Given the description of an element on the screen output the (x, y) to click on. 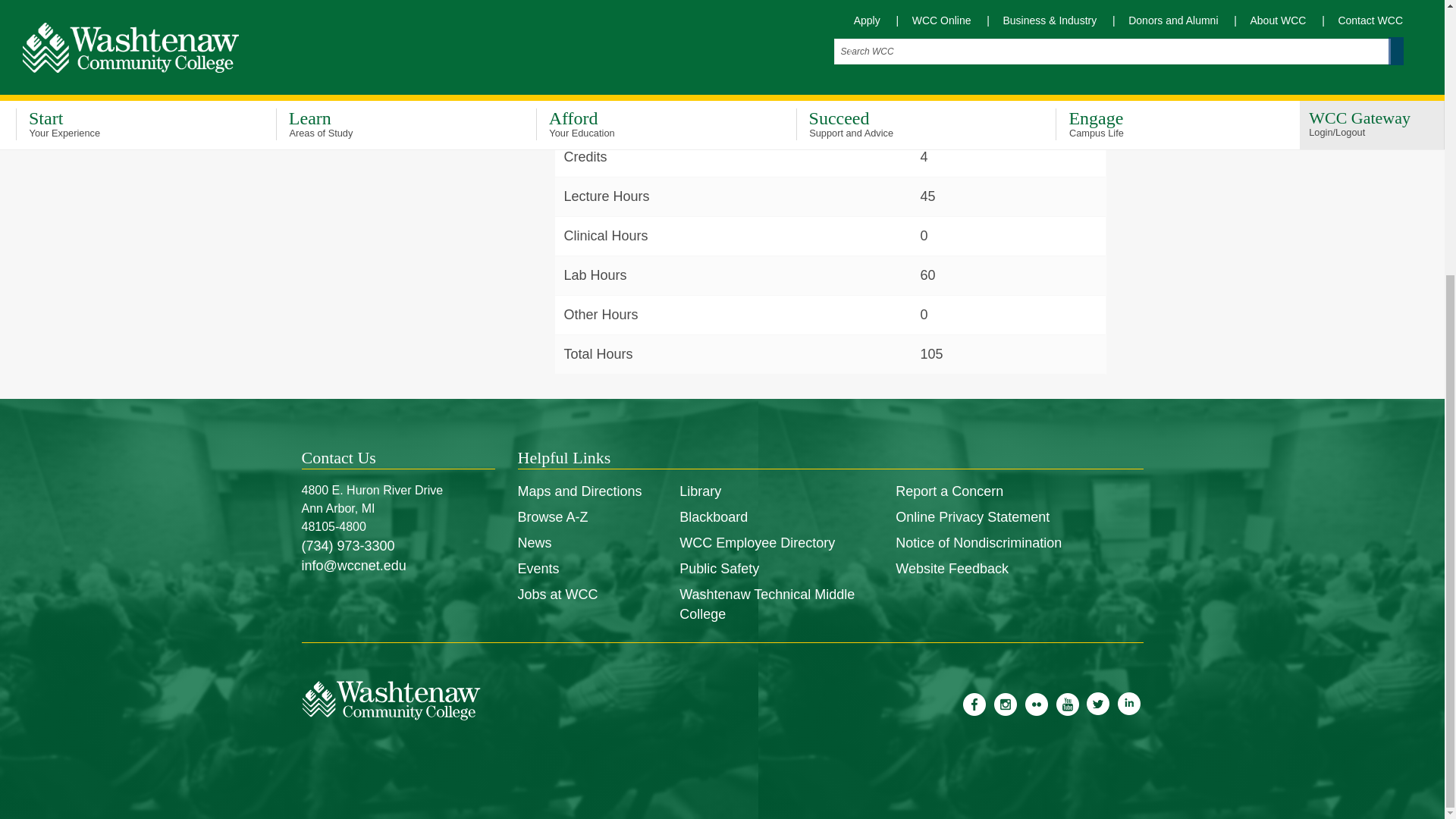
Website Feedback (952, 568)
Washtenaw Technical Middle College (766, 604)
Browse A - Z (552, 516)
Events (537, 568)
Library (699, 491)
Jobs at WCC (556, 594)
Blackboard (713, 516)
Public Safety (718, 568)
News (533, 542)
Employee Directory (756, 542)
Maps and Directions (579, 491)
Notice of Nondiscrimination (978, 542)
